Given the description of an element on the screen output the (x, y) to click on. 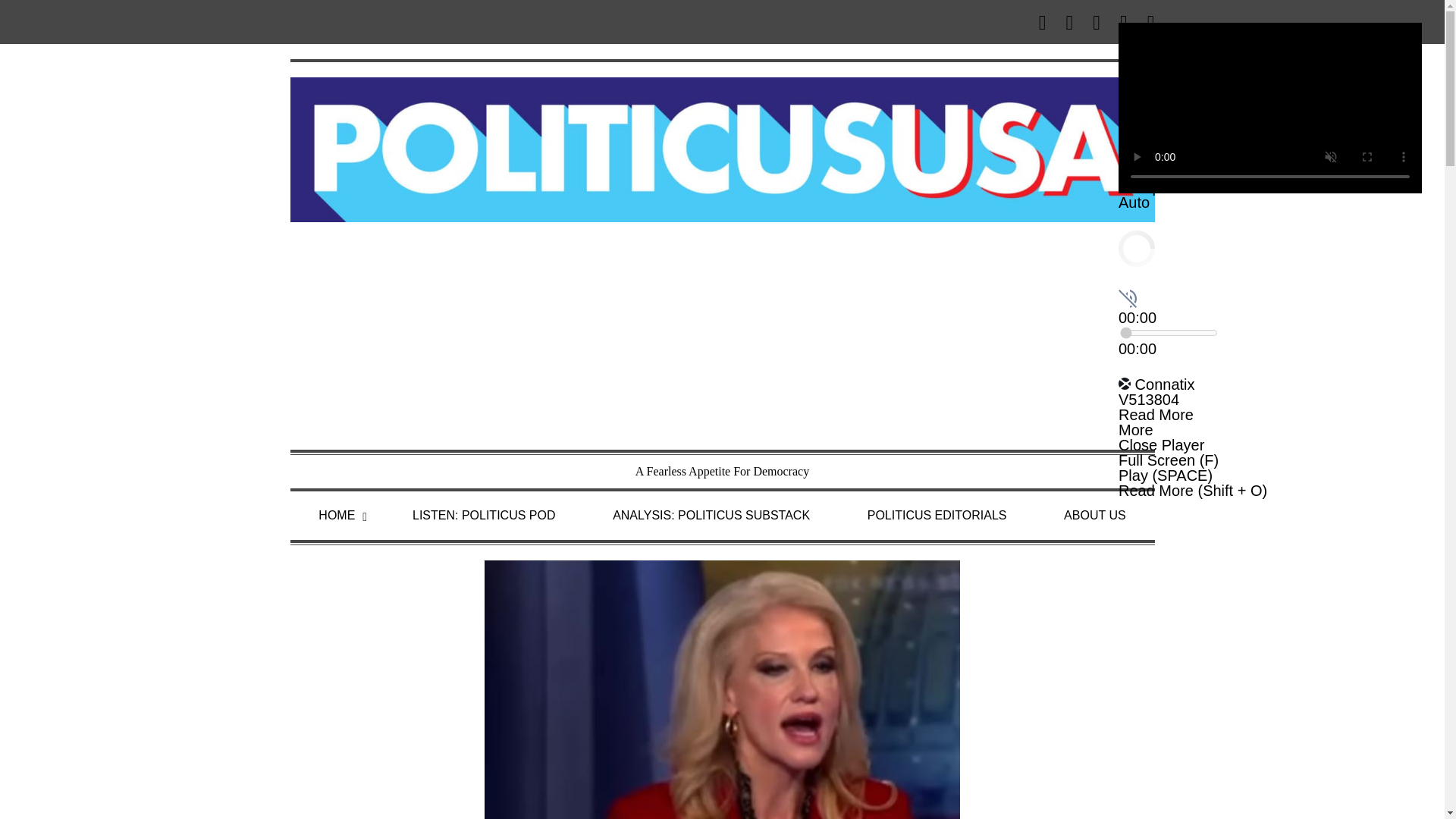
HOME (335, 515)
ANALYSIS: POLITICUS SUBSTACK (710, 515)
LISTEN: POLITICUS POD (483, 515)
ABOUT US (1094, 515)
POLITICUS EDITORIALS (936, 515)
Go back to home (721, 148)
